Given the description of an element on the screen output the (x, y) to click on. 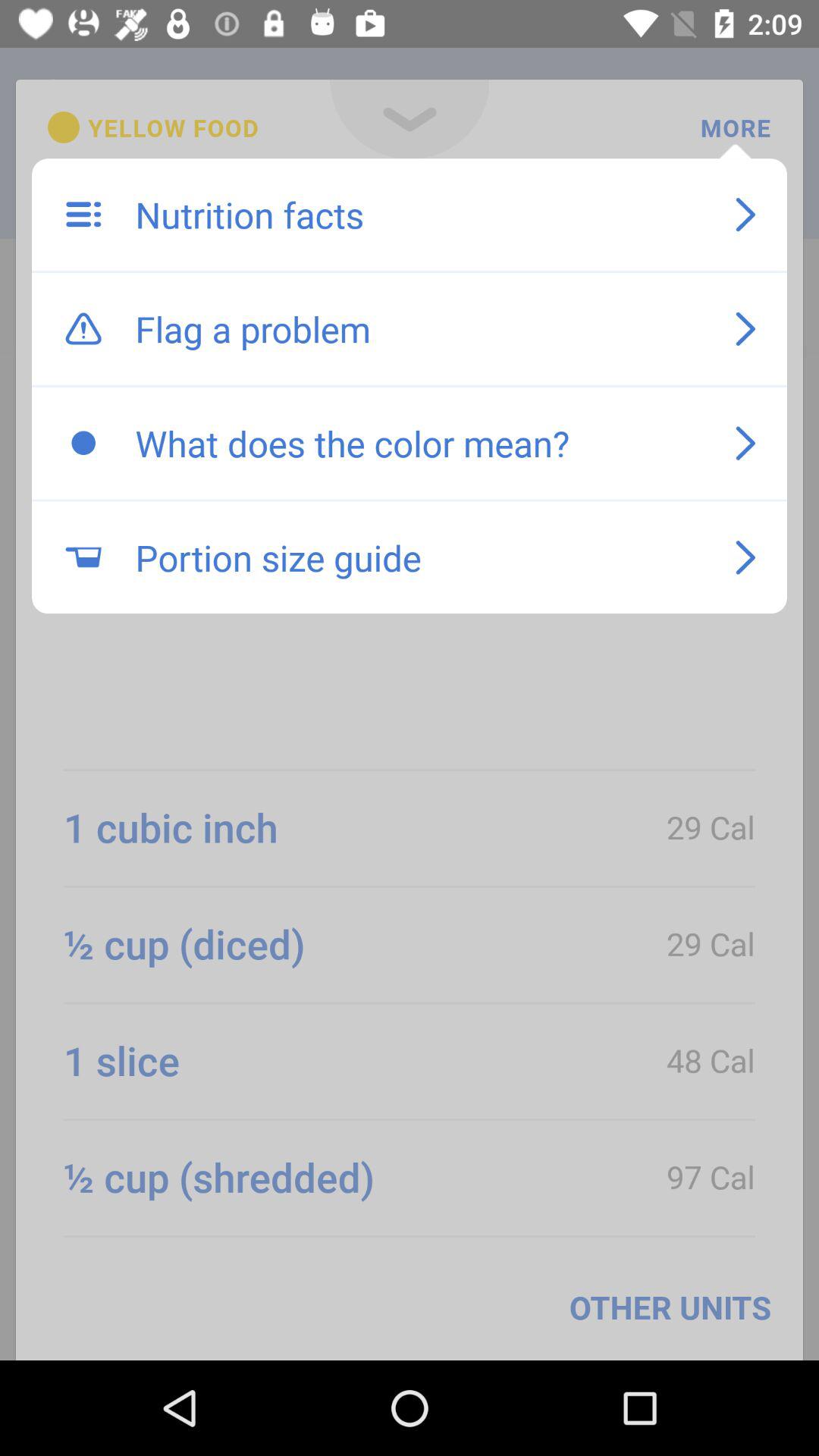
launch item above the what does the (419, 328)
